Given the description of an element on the screen output the (x, y) to click on. 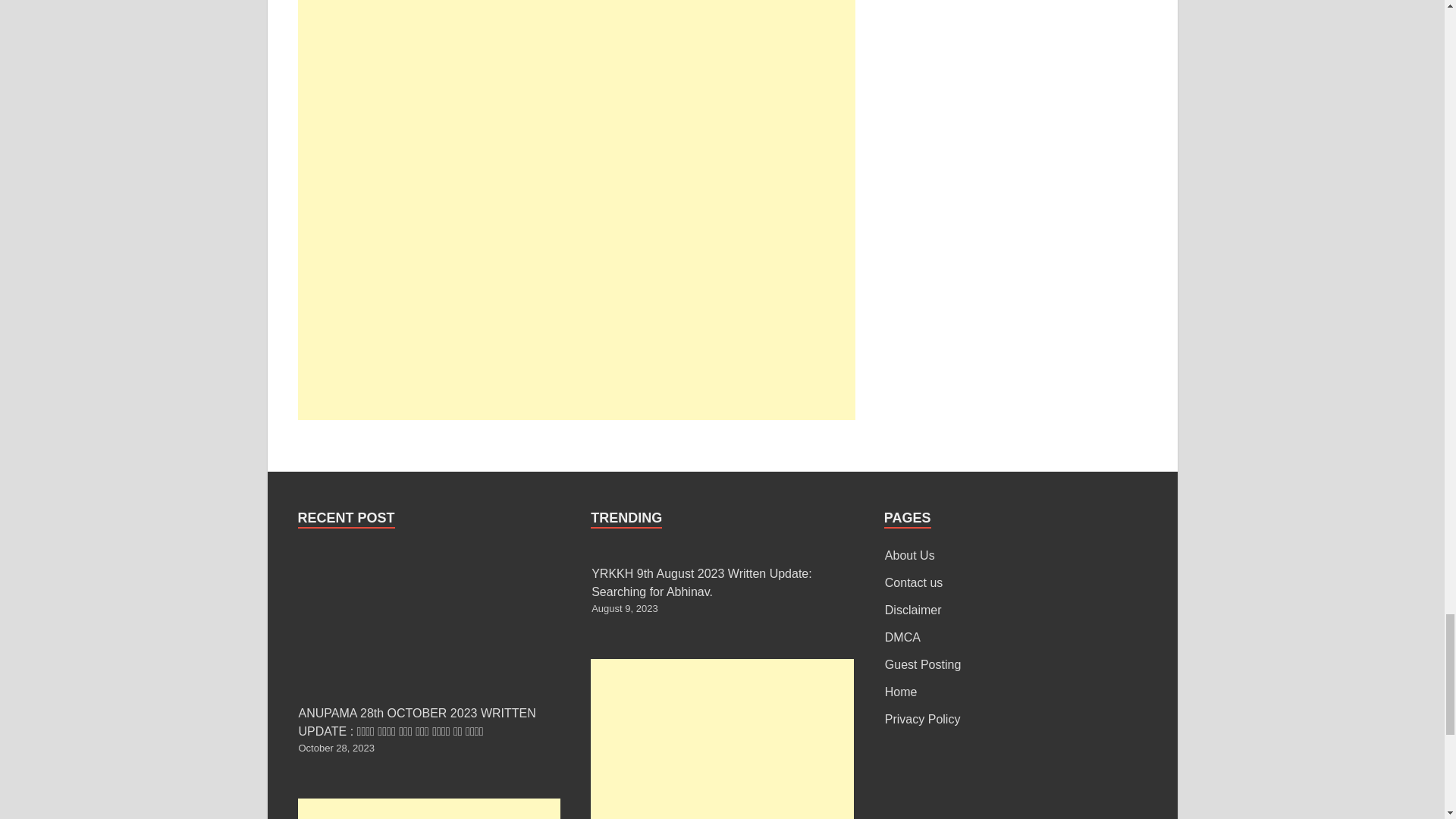
Contact us (913, 582)
YRKKH 9th August 2023 Written Update: Searching for Abhinav. (701, 582)
About Us (909, 554)
